Given the description of an element on the screen output the (x, y) to click on. 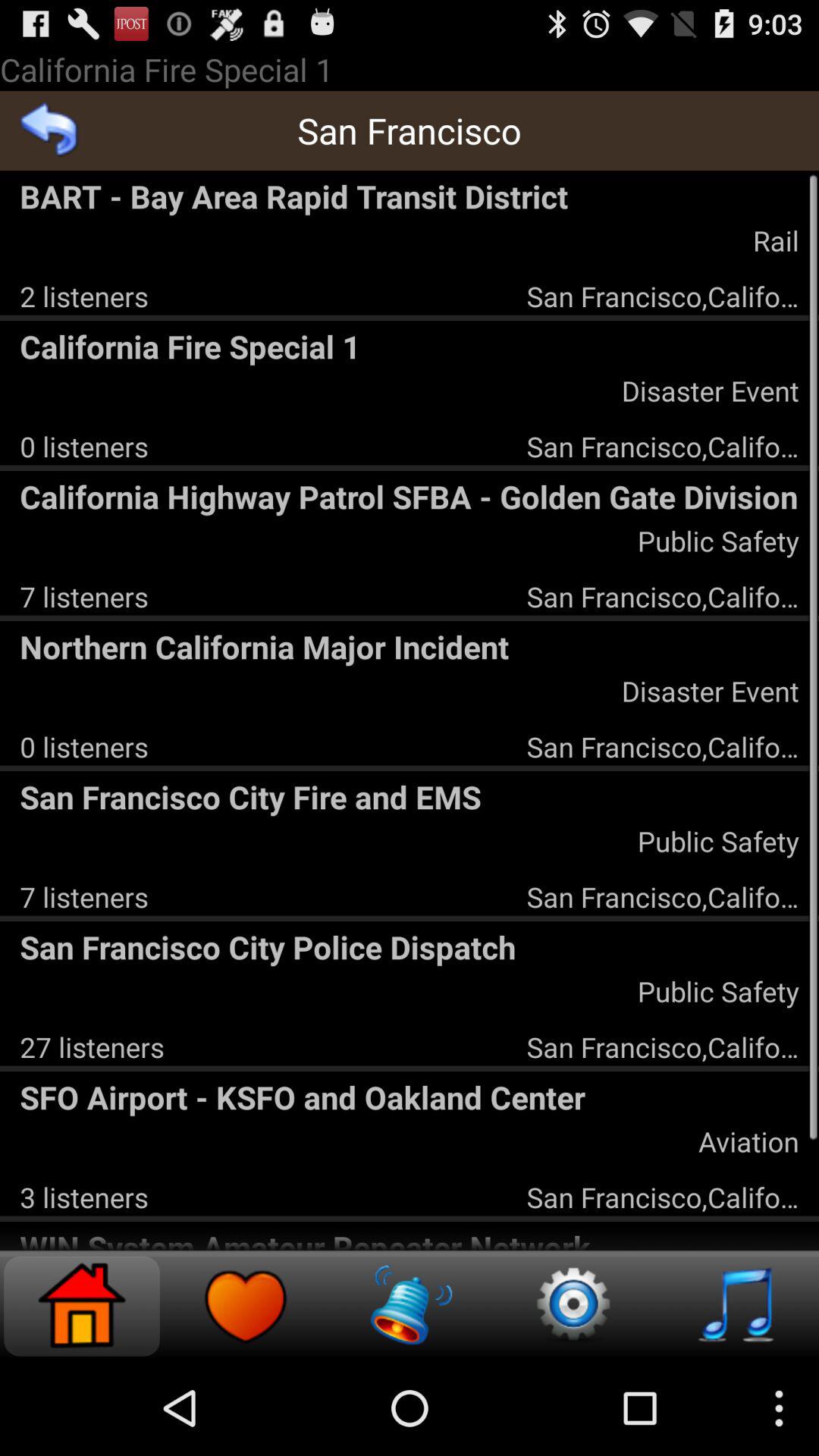
choose item above win system amateur icon (83, 1196)
